Given the description of an element on the screen output the (x, y) to click on. 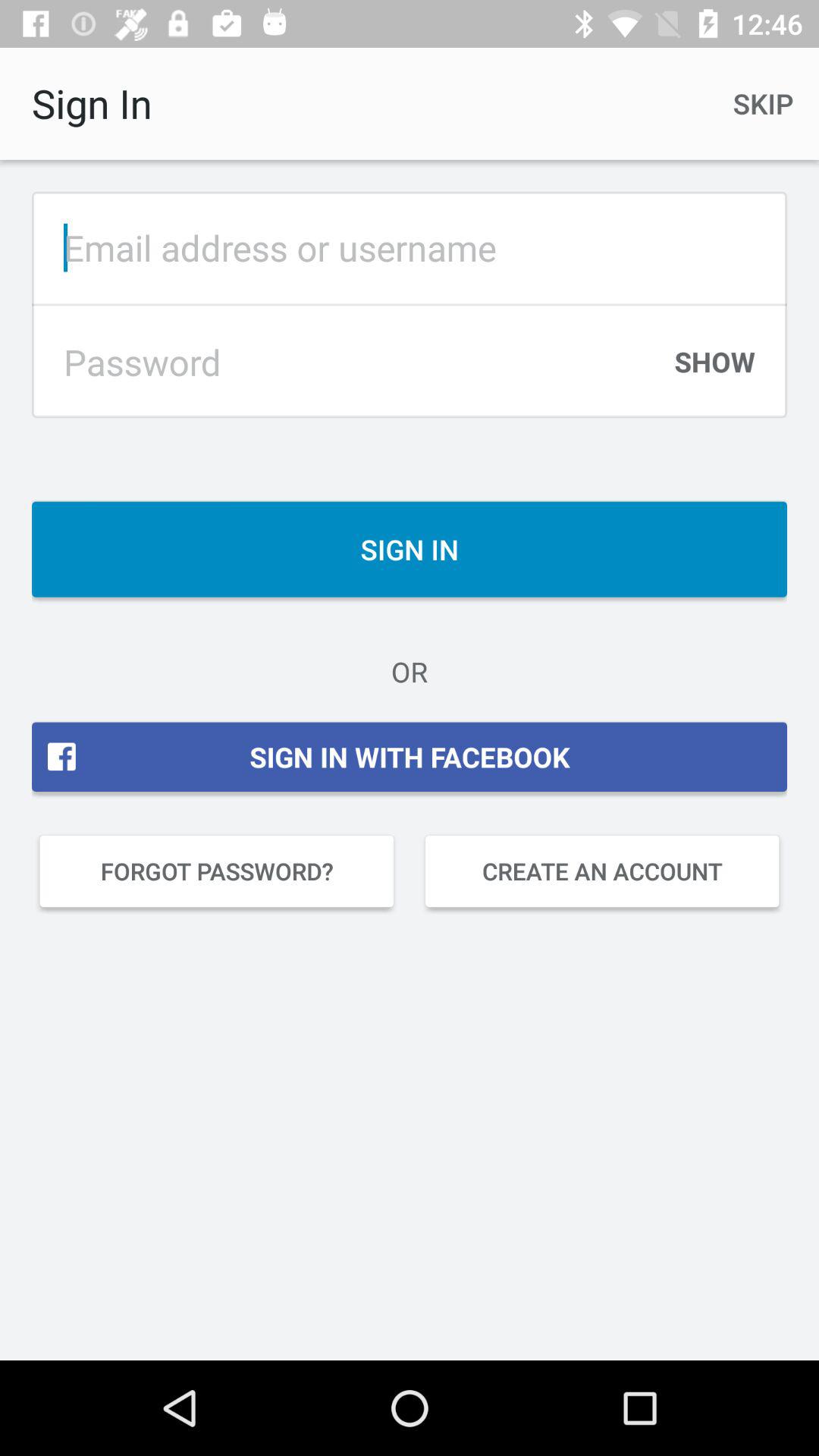
open the item below the sign in with icon (602, 871)
